Given the description of an element on the screen output the (x, y) to click on. 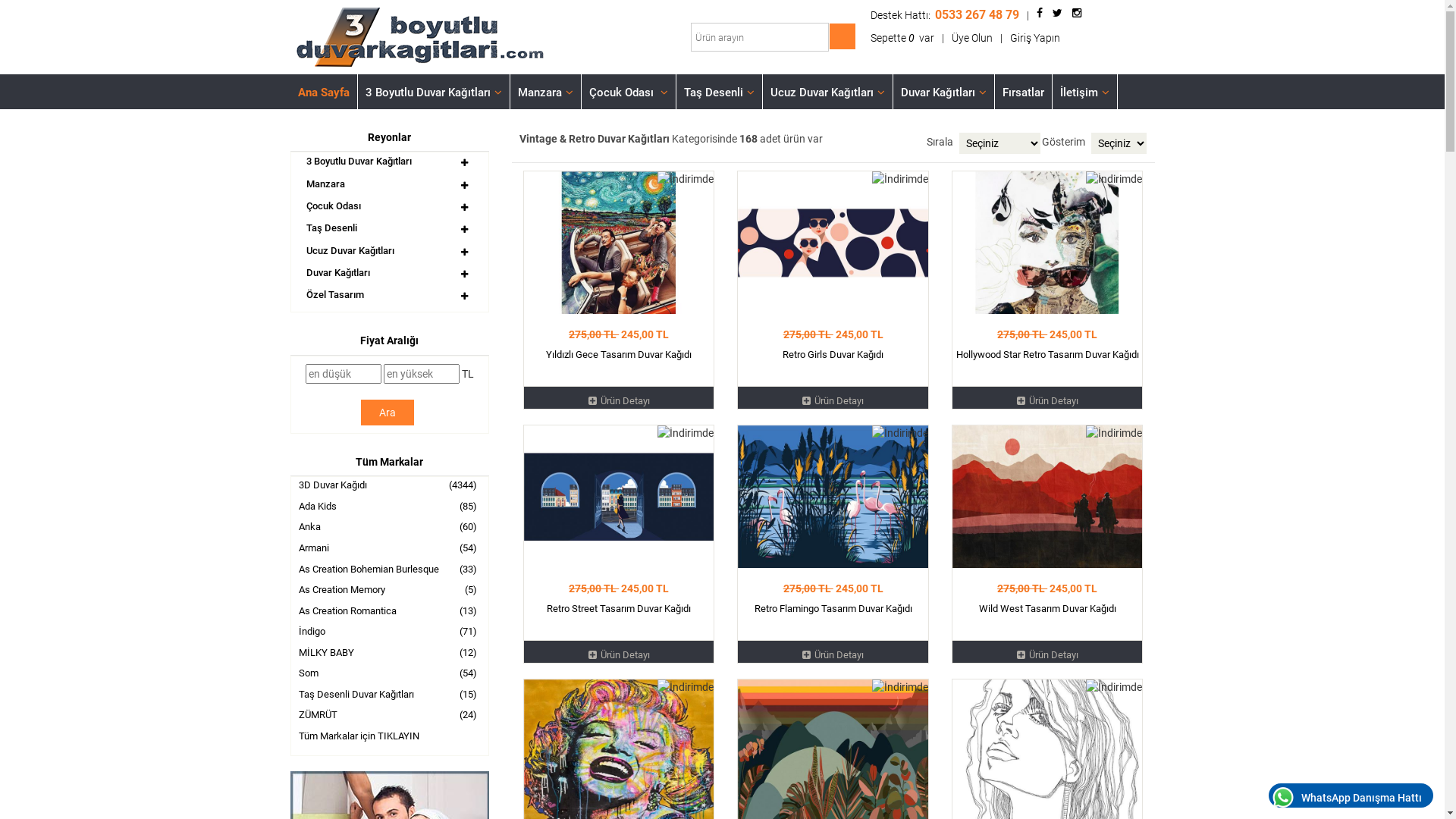
Sepette 0 var Element type: text (902, 37)
(54)
Som Element type: text (390, 674)
(60)
Anka Element type: text (390, 528)
(5)
As Creation Memory Element type: text (390, 591)
(85)
Ada Kids Element type: text (390, 507)
| Element type: text (942, 37)
| Element type: text (1000, 37)
Manzara Element type: text (325, 183)
| Element type: text (1027, 14)
(13)
As Creation Romantica Element type: text (390, 612)
Manzara Element type: text (544, 91)
Ana Sayfa Element type: text (322, 91)
Ara Element type: text (387, 412)
(54)
Armani Element type: text (390, 549)
(33)
As Creation Bohemian Burlesque Element type: text (390, 570)
